Given the description of an element on the screen output the (x, y) to click on. 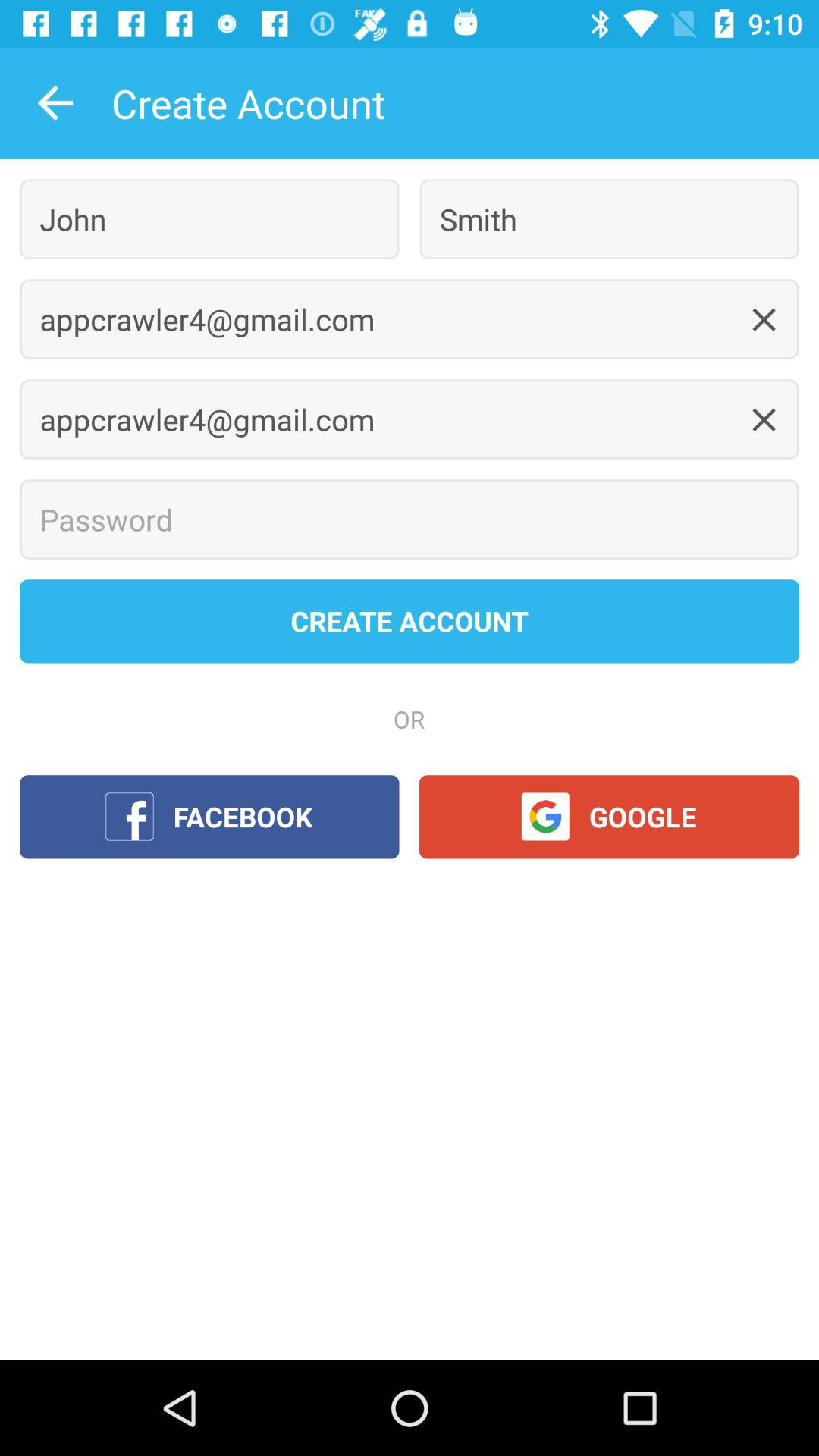
choose the item to the left of smith (209, 219)
